Given the description of an element on the screen output the (x, y) to click on. 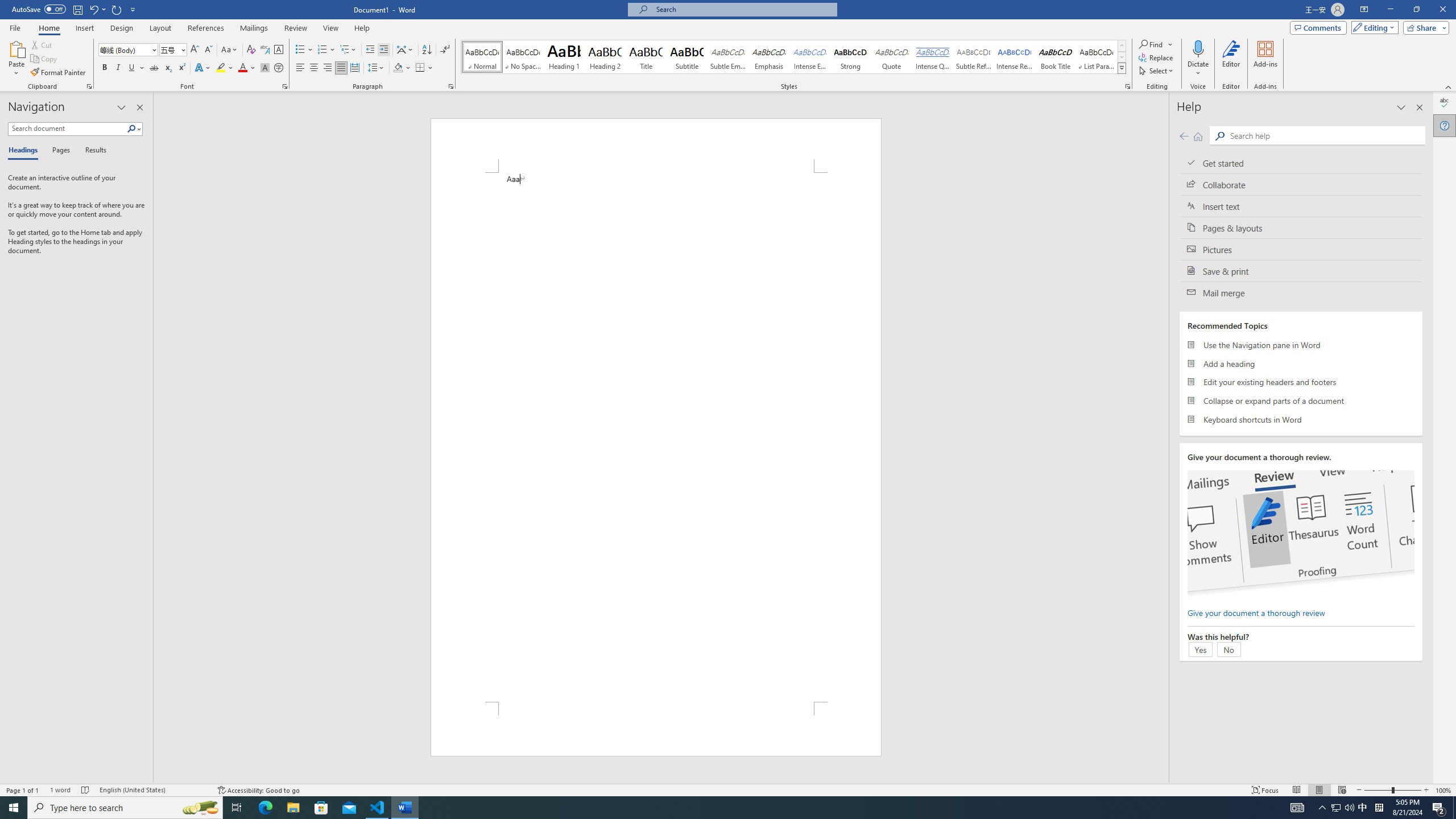
Spelling and Grammar Check No Errors (85, 790)
Insert text (1300, 206)
Add a heading (1300, 363)
Intense Emphasis (809, 56)
